Given the description of an element on the screen output the (x, y) to click on. 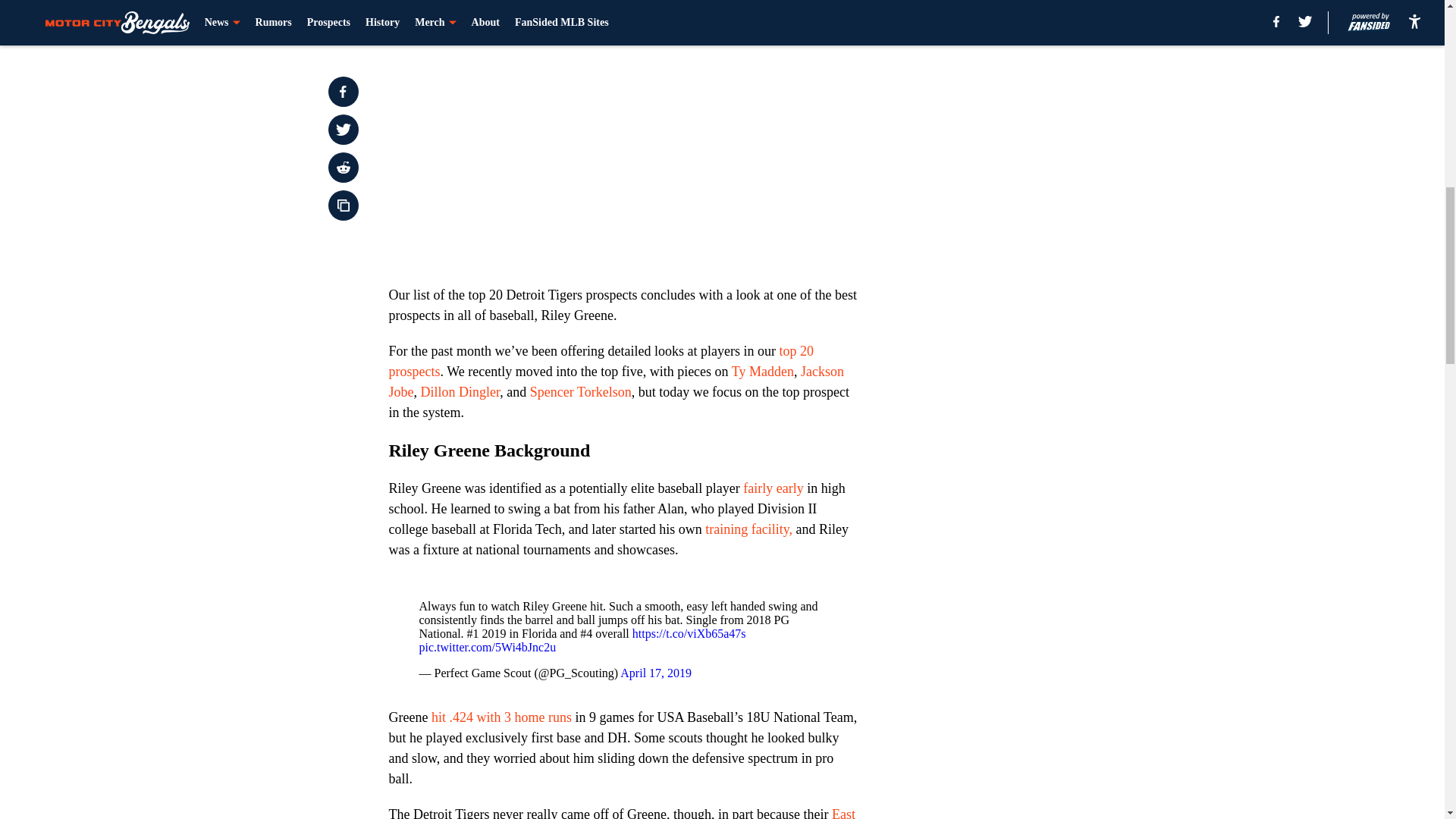
Jackson Jobe (616, 381)
April 17, 2019 (655, 672)
East Coast Regional Crosschecker (621, 812)
Dillon Dingler (459, 391)
top 20 prospects (600, 361)
Ty Madden (762, 371)
fairly early (772, 488)
Spencer Torkelson (580, 391)
hit .424 with 3 home runs (501, 717)
training facility, (748, 529)
